Given the description of an element on the screen output the (x, y) to click on. 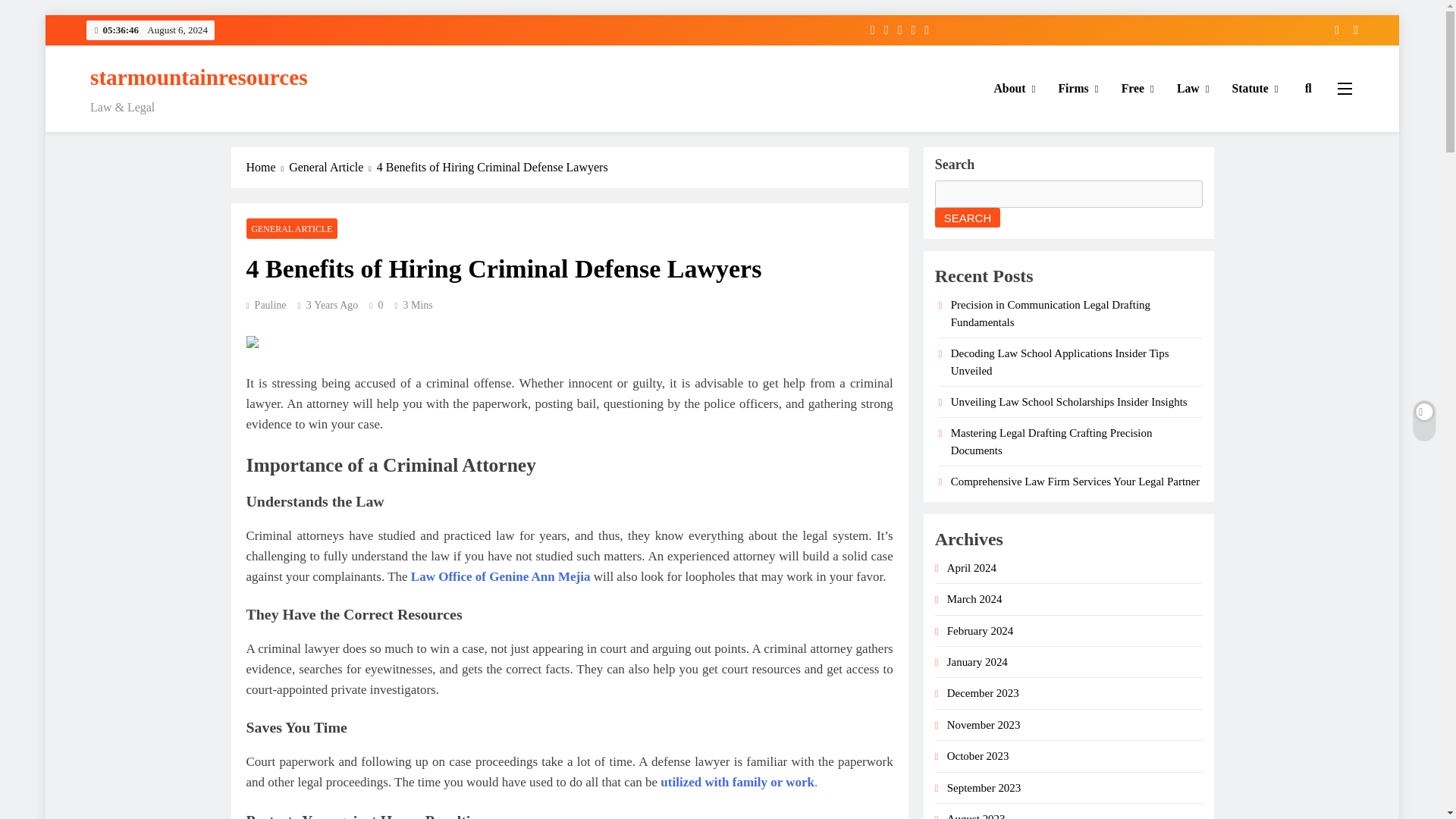
Law (1193, 88)
Statute (1255, 88)
starmountainresources (198, 77)
Free (1137, 88)
About (1014, 88)
Firms (1077, 88)
